Given the description of an element on the screen output the (x, y) to click on. 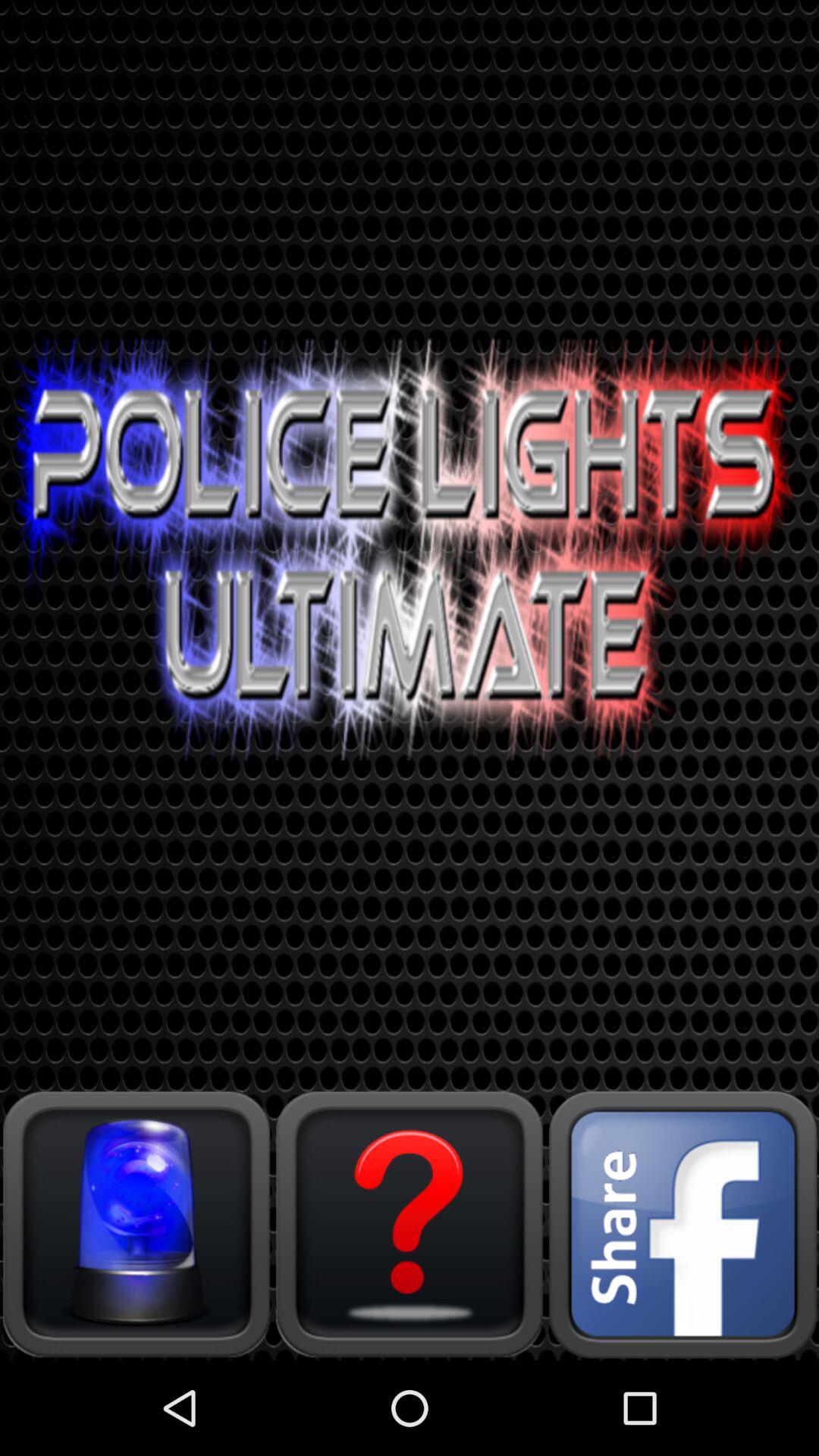
toggle alarm option (136, 1223)
